Given the description of an element on the screen output the (x, y) to click on. 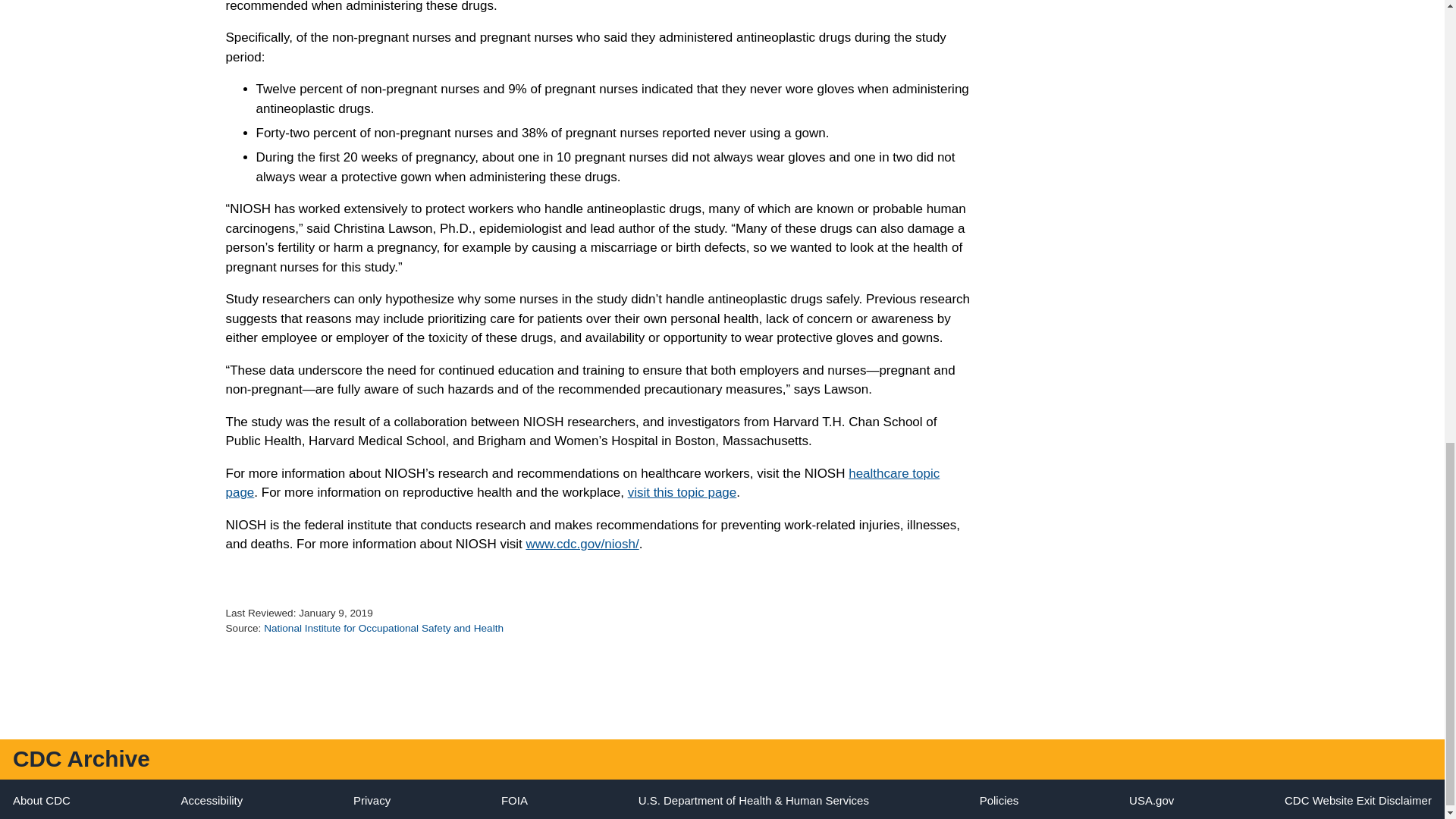
National Institute for Occupational Safety and Health (383, 627)
CDC Archive Home (81, 758)
CDC Digital Media Channel Privacy Policy Notice (371, 799)
healthcare topic page (582, 483)
CDC Twenty Four Seven (41, 799)
CDC Accessibility (211, 799)
visit this topic page (681, 492)
CDC Policies and Regulations (999, 799)
USA.gov (1151, 799)
